Given the description of an element on the screen output the (x, y) to click on. 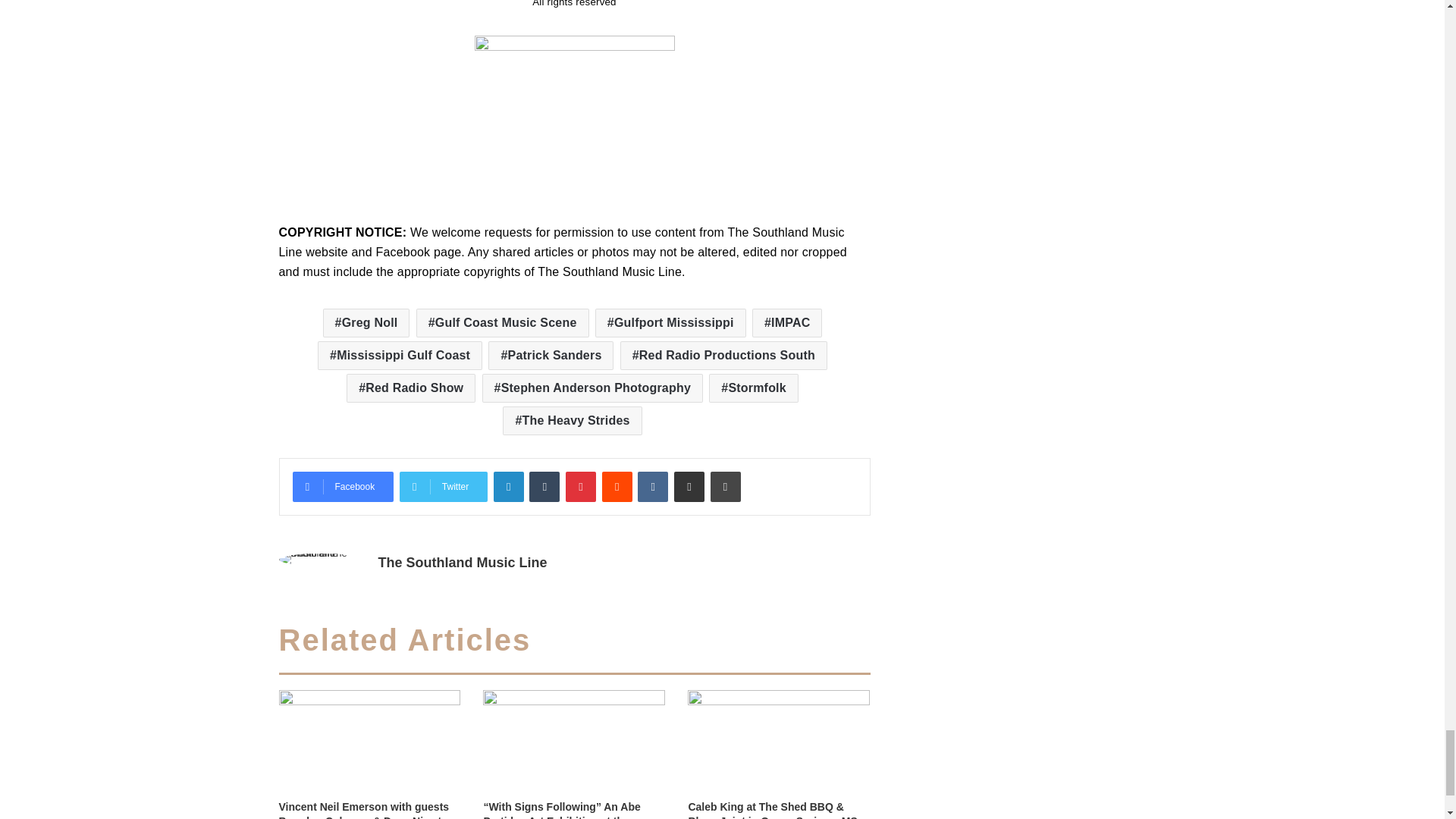
IMPAC (787, 322)
Print (725, 486)
Mississippi Gulf Coast (399, 355)
Patrick Sanders (549, 355)
Pinterest (580, 486)
Tumblr (544, 486)
VKontakte (652, 486)
Gulf Coast Music Scene (502, 322)
LinkedIn (508, 486)
Facebook (343, 486)
